Given the description of an element on the screen output the (x, y) to click on. 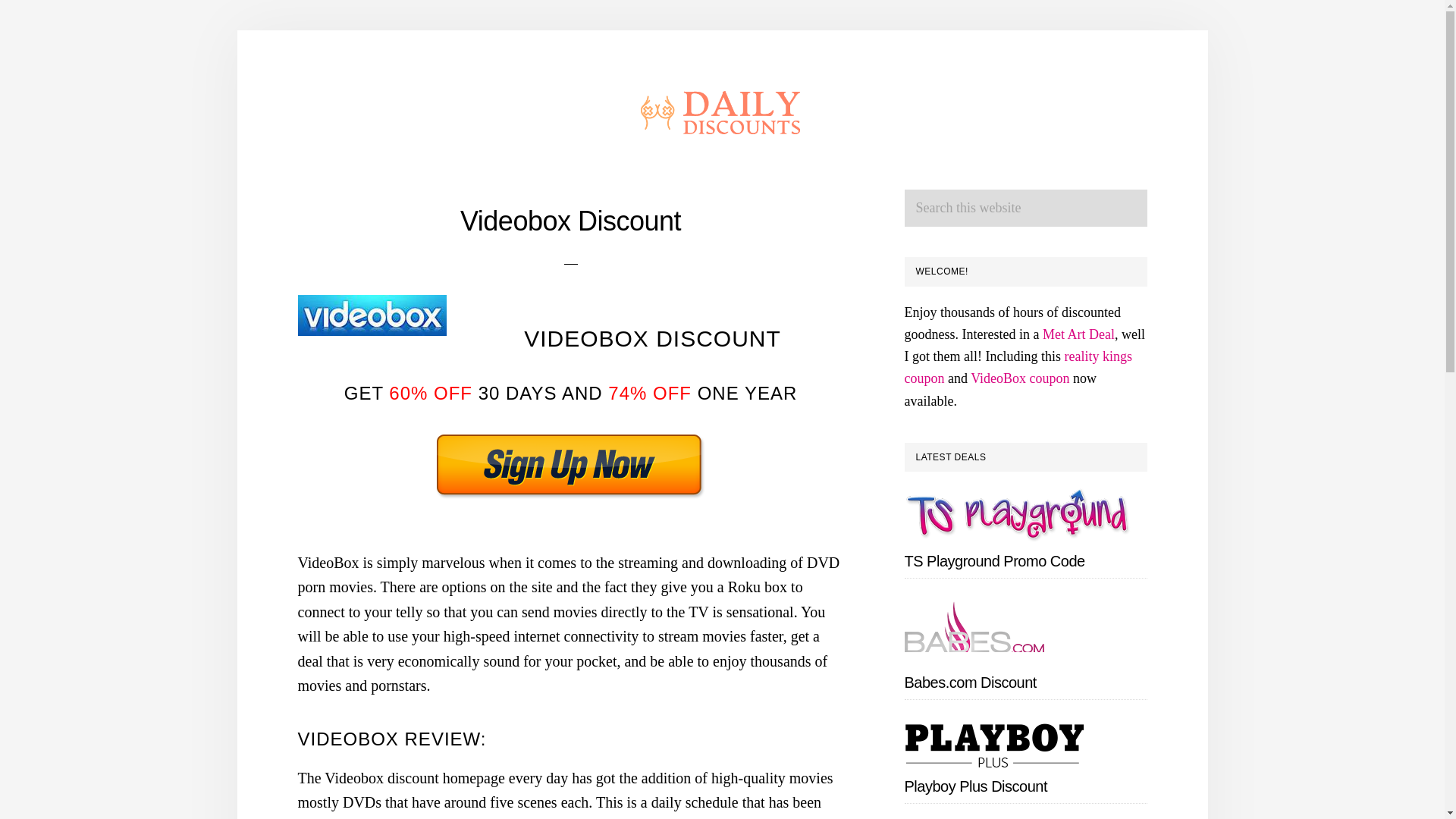
Met Art Deal (1078, 334)
Babes.com Discount (969, 682)
reality kings coupon (1017, 366)
VideoBox coupon (1019, 378)
TS Playground Promo Code (994, 560)
Playboy Plus Discount (975, 786)
